Given the description of an element on the screen output the (x, y) to click on. 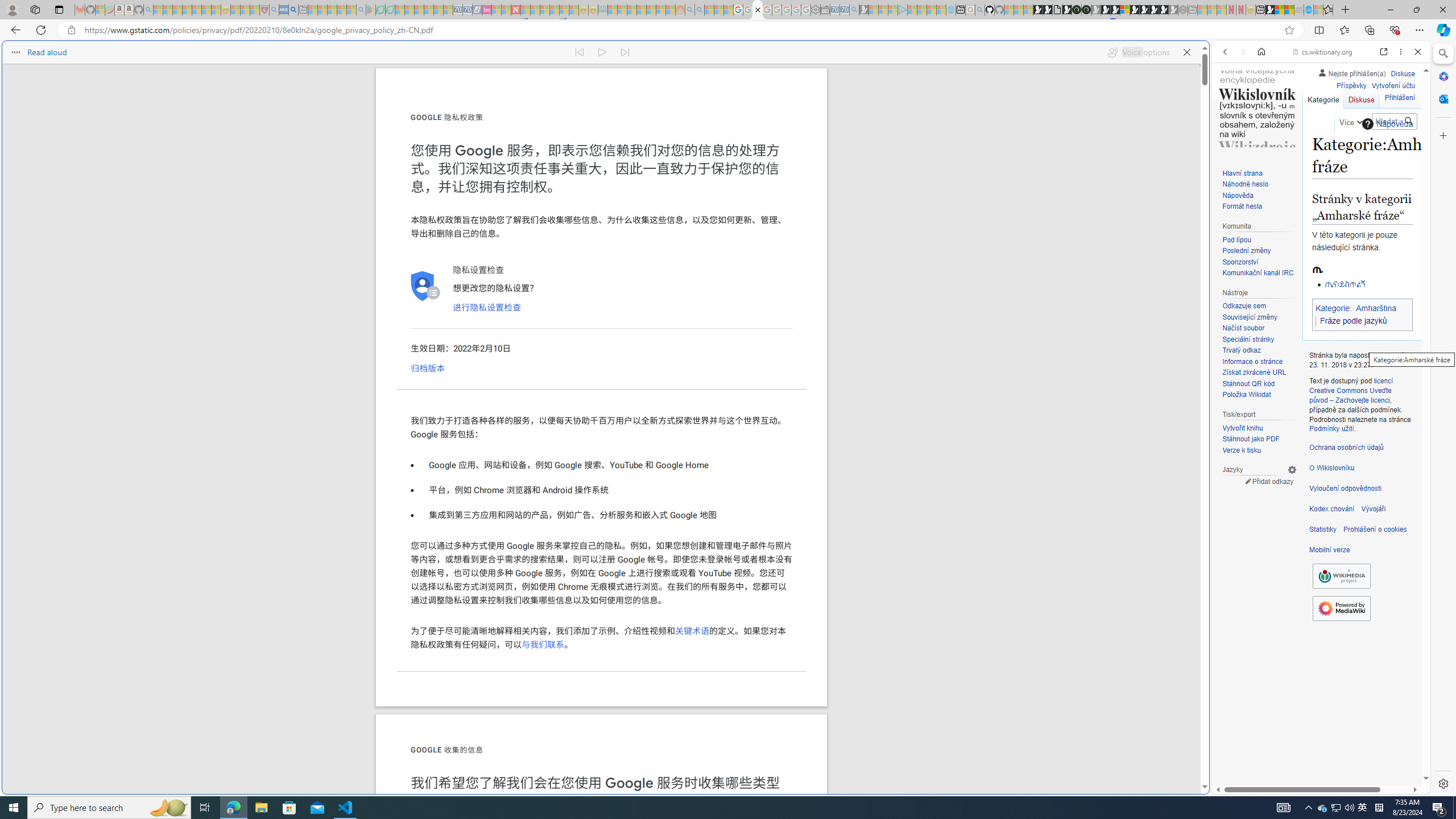
The Weather Channel - MSN - Sleeping (177, 9)
Verze k tisku (1240, 449)
Search Filter, Search Tools (1350, 129)
Search Filter, WEB (1230, 129)
